Given the description of an element on the screen output the (x, y) to click on. 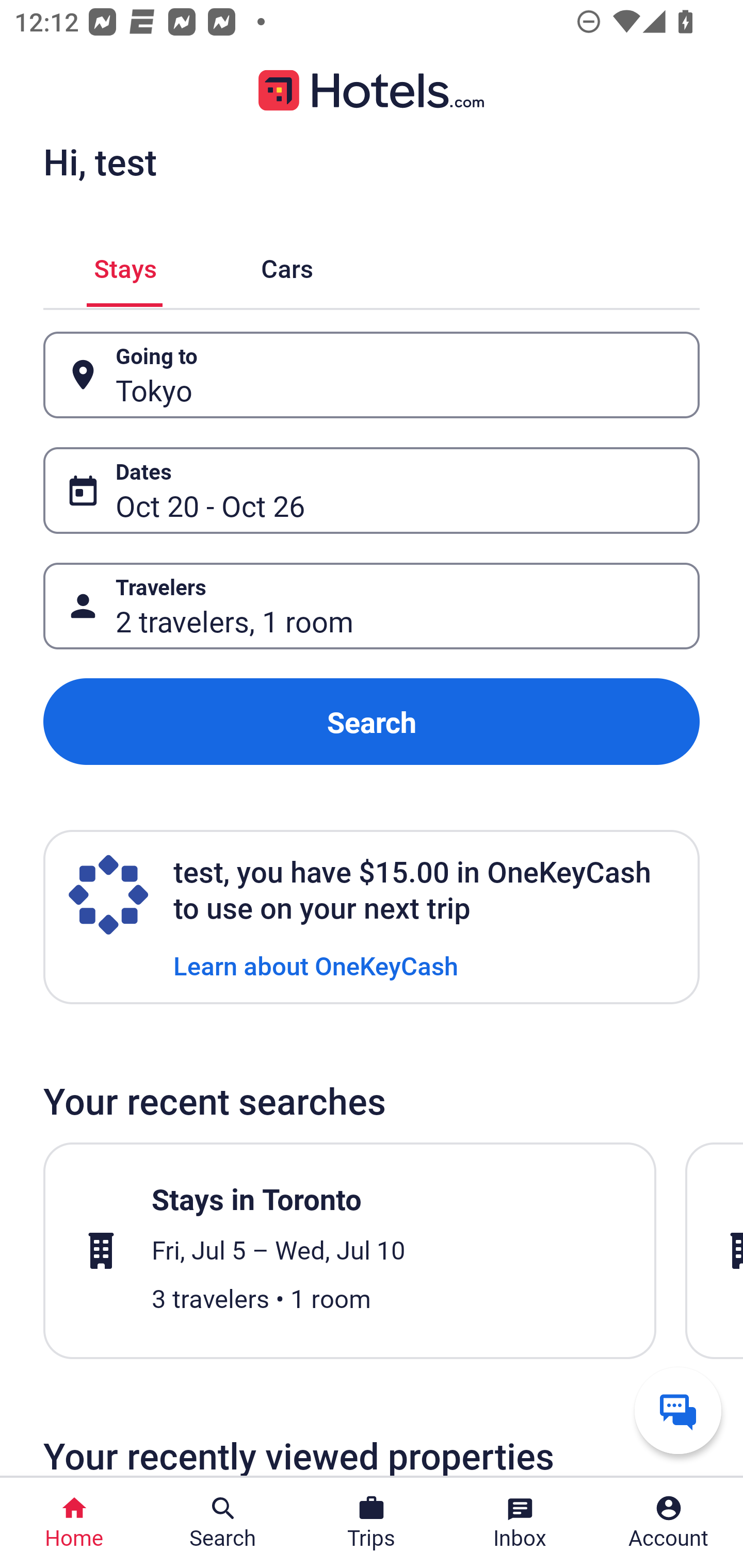
Hi, test (99, 161)
Cars (286, 265)
Going to Button Tokyo (371, 375)
Dates Button Oct 20 - Oct 26 (371, 489)
Travelers Button 2 travelers, 1 room (371, 605)
Search (371, 721)
Learn about OneKeyCash Learn about OneKeyCash Link (315, 964)
Get help from a virtual agent (677, 1410)
Search Search Button (222, 1522)
Trips Trips Button (371, 1522)
Inbox Inbox Button (519, 1522)
Account Profile. Button (668, 1522)
